Given the description of an element on the screen output the (x, y) to click on. 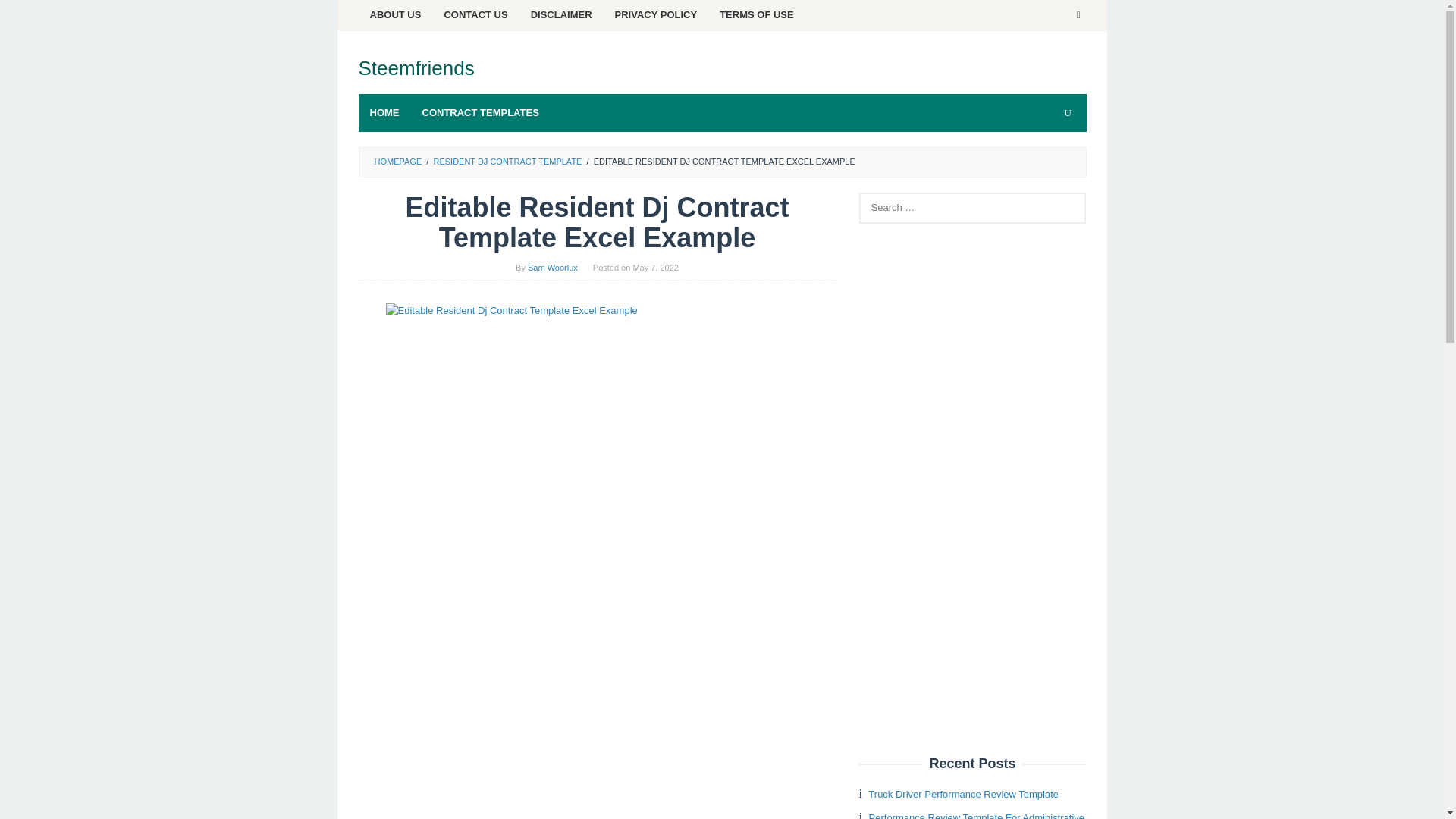
Permalink to: Sam Woorlux (552, 266)
Steemfriends (416, 67)
ABOUT US (395, 15)
Truck Driver Performance Review Template (962, 794)
PRIVACY POLICY (656, 15)
HOMEPAGE (398, 161)
HOME (384, 112)
Steemfriends (416, 67)
Performance Review Template For Administrative Assistant (971, 815)
TERMS OF USE (756, 15)
